Given the description of an element on the screen output the (x, y) to click on. 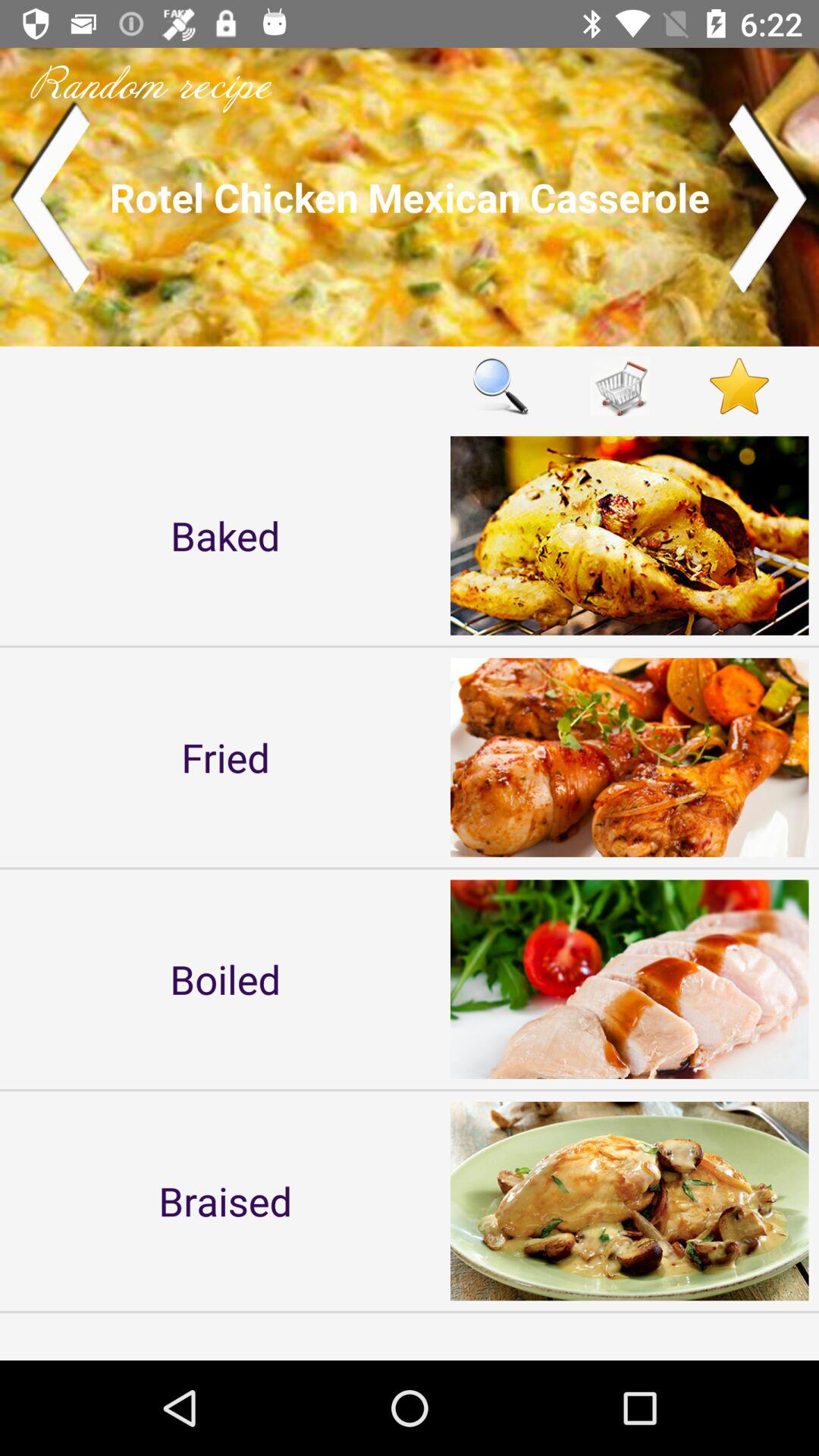
flip until baked (225, 534)
